Given the description of an element on the screen output the (x, y) to click on. 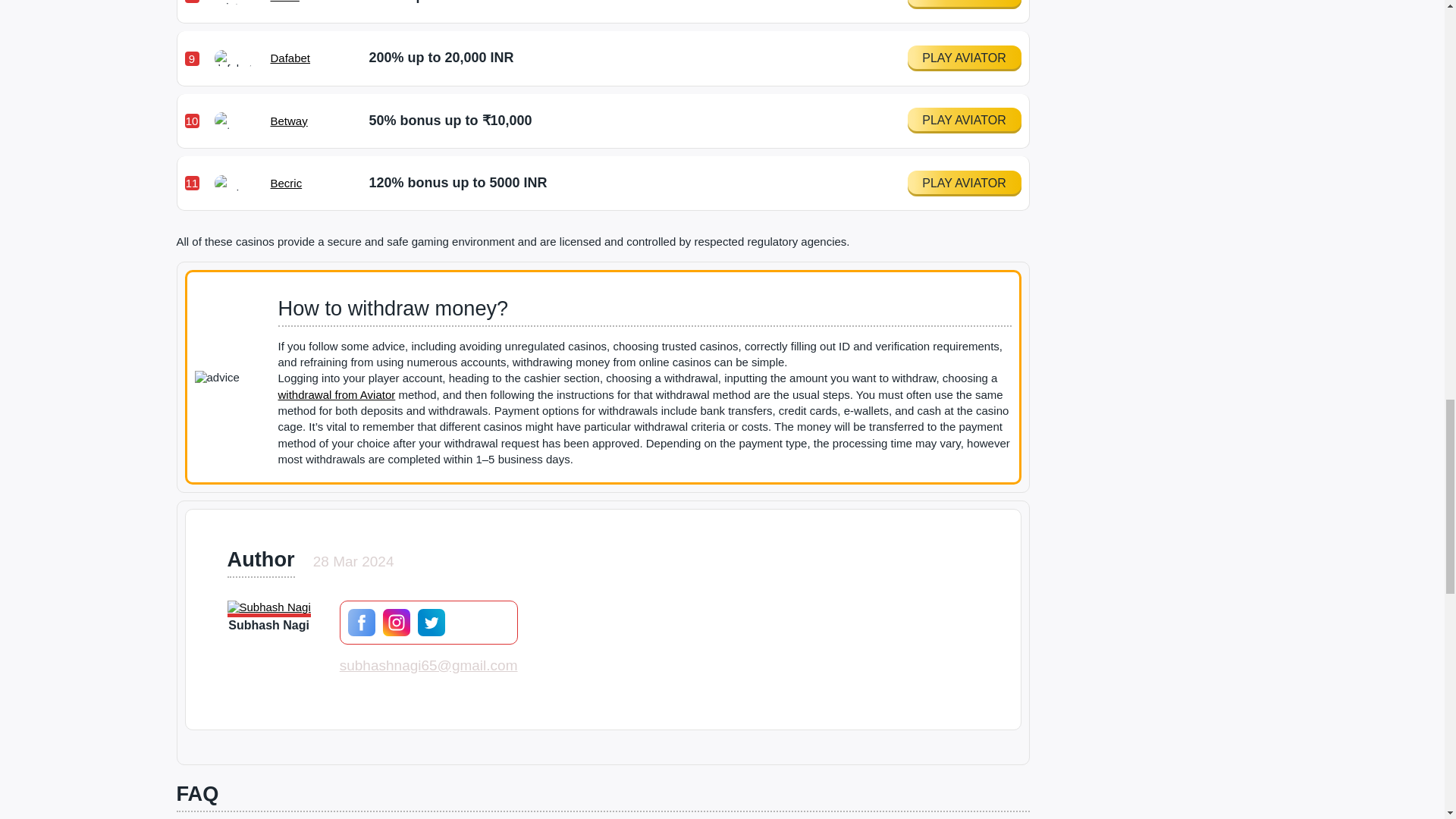
Facebook (361, 622)
Twitter (431, 622)
Instagram (396, 622)
